Given the description of an element on the screen output the (x, y) to click on. 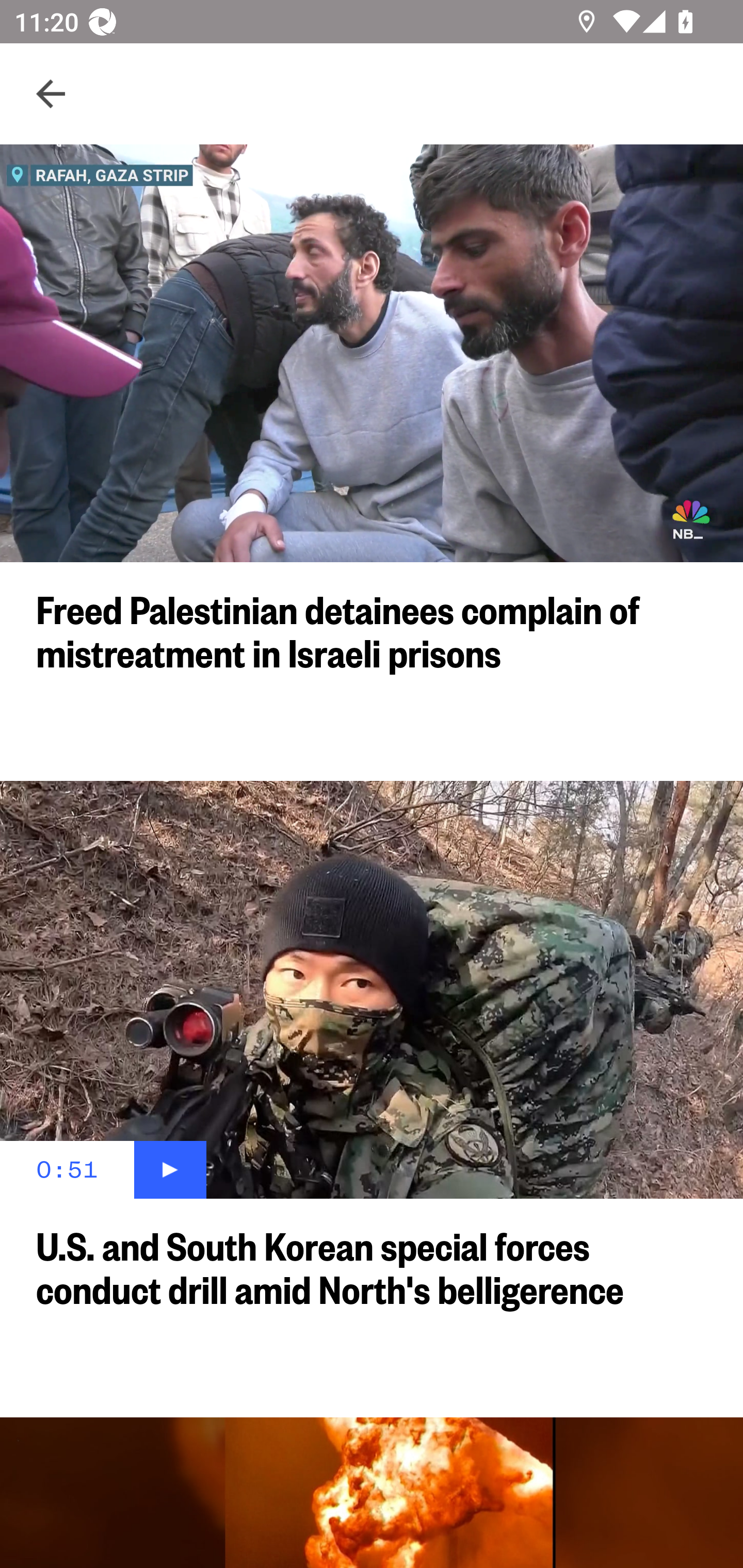
Navigate up (50, 93)
